Given the description of an element on the screen output the (x, y) to click on. 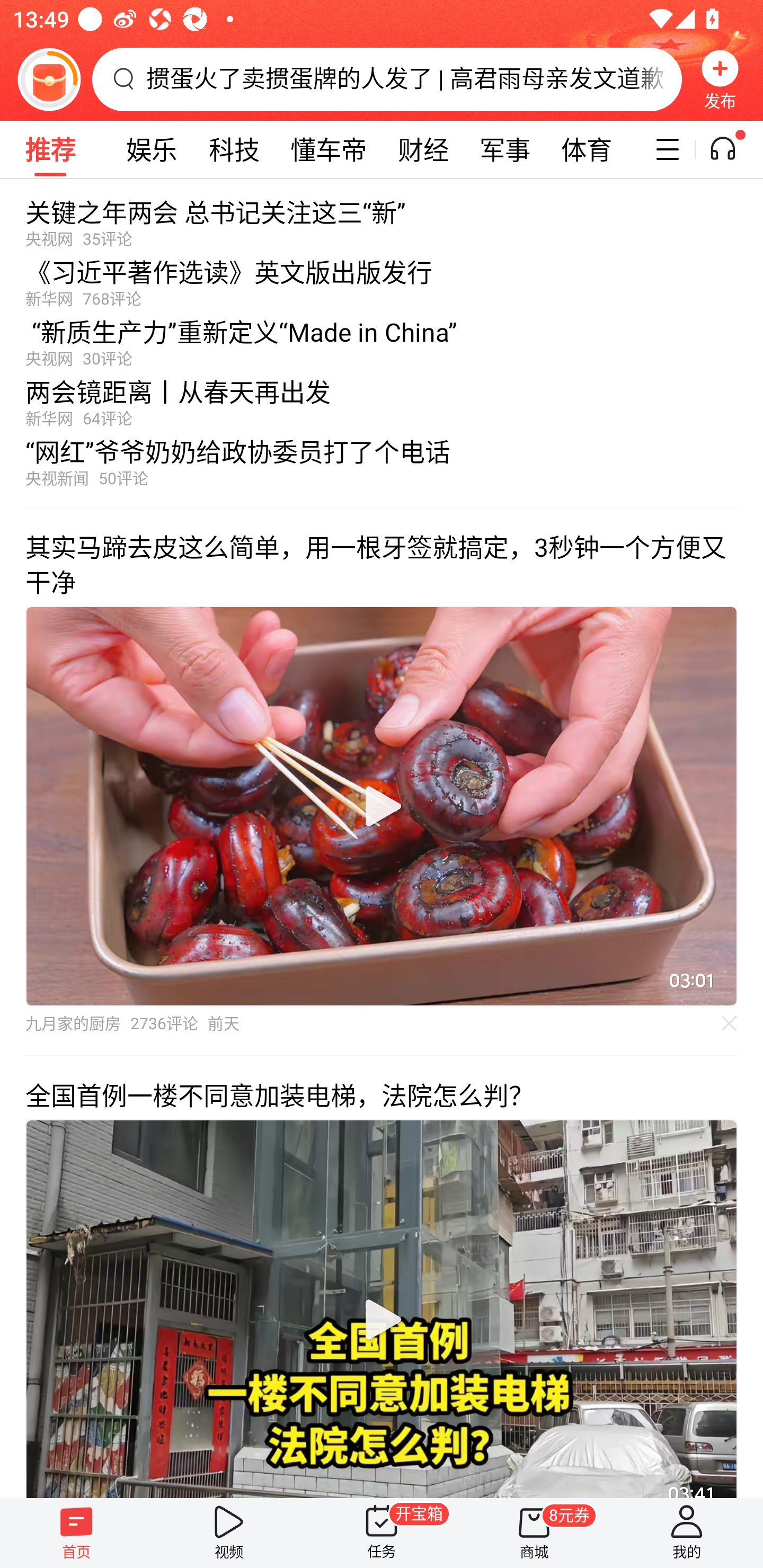
阅读赚金币 (48, 79)
发布 发布，按钮 (720, 78)
推荐 (49, 149)
娱乐 (151, 149)
科技 (234, 149)
懂车帝 (328, 149)
财经 (423, 149)
军事 (504, 149)
体育 (586, 149)
听一听开关 (732, 149)
两会镜距离丨从春天再出发新华网64评论 文章 两会镜距离丨从春天再出发 新华网64评论 (381, 398)
播放视频 视频播放器，双击屏幕打开播放控制 (381, 805)
播放视频 (381, 806)
不感兴趣 (729, 1023)
全国首例一楼不同意加装电梯，法院怎么判？ 播放视频 视频播放器，双击屏幕打开播放控制 (381, 1276)
播放视频 视频播放器，双击屏幕打开播放控制 (381, 1308)
播放视频 (381, 1319)
首页 (76, 1532)
视频 (228, 1532)
任务 开宝箱 (381, 1532)
商城 8元券 (533, 1532)
我的 (686, 1532)
